Given the description of an element on the screen output the (x, y) to click on. 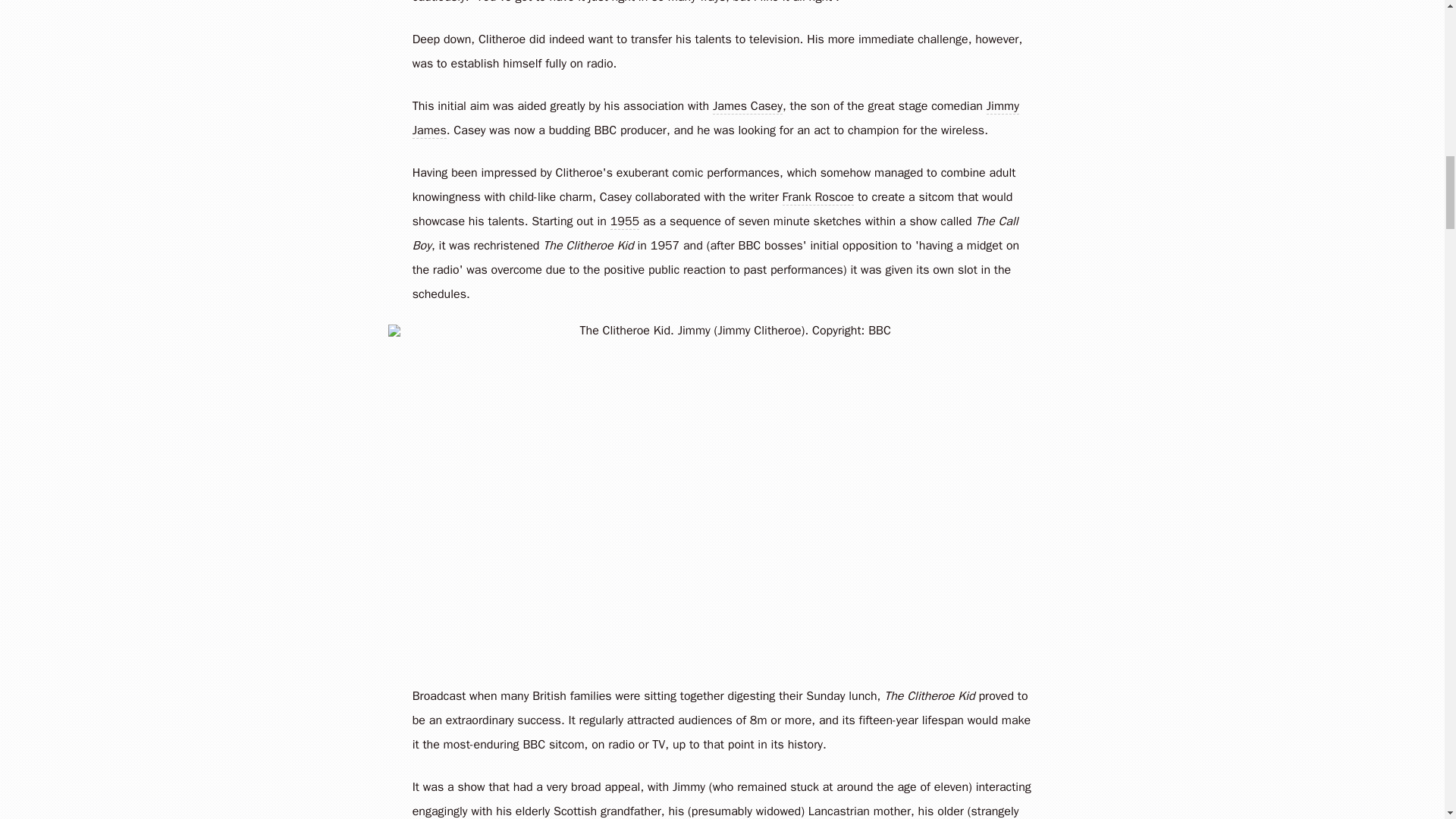
James Casey (748, 105)
Jimmy James (715, 117)
